Given the description of an element on the screen output the (x, y) to click on. 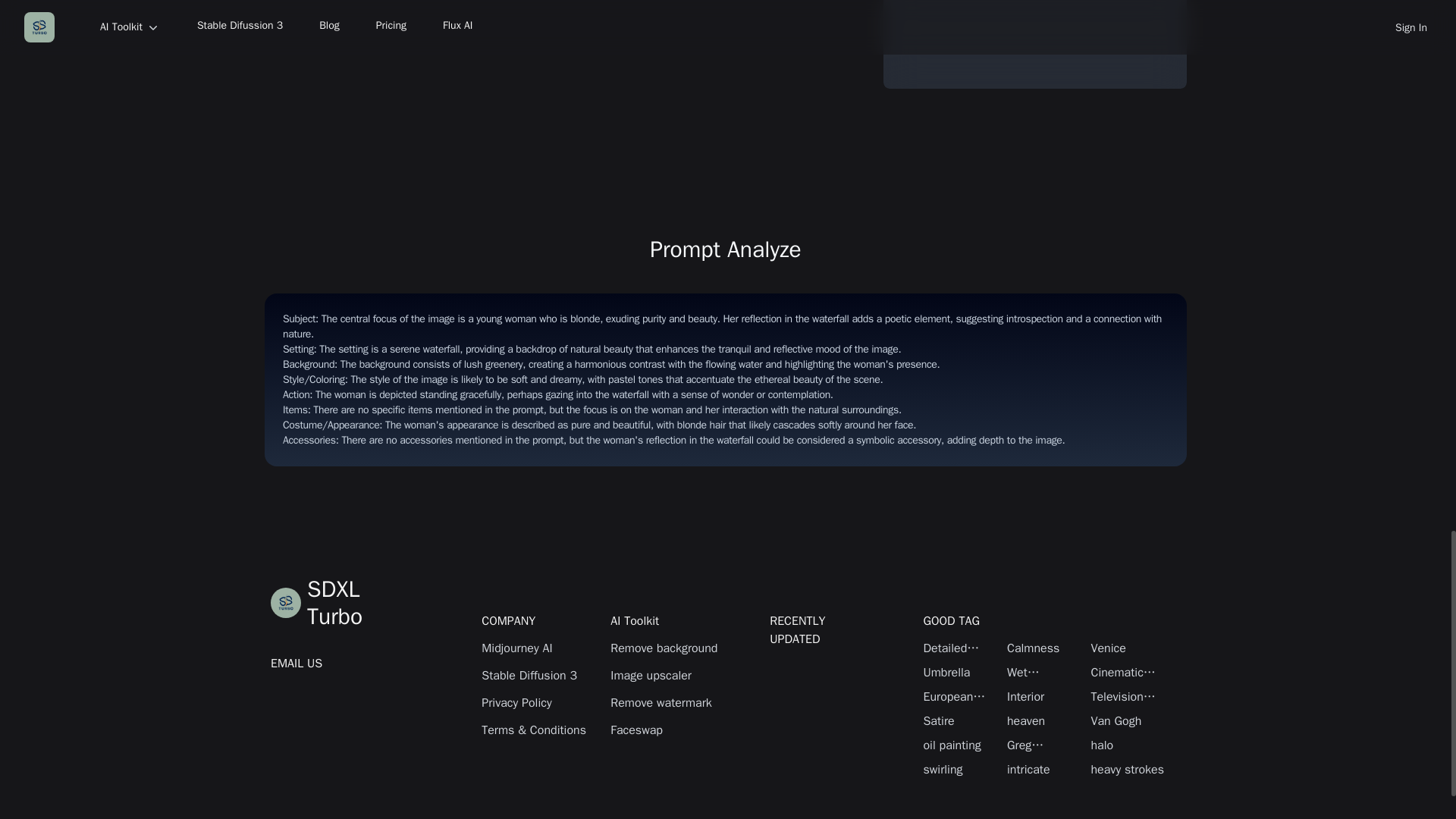
Calmness (1045, 648)
Interior (1045, 696)
Cinematic Style (1128, 672)
Remove background (666, 648)
European Culture (960, 696)
European Culture (960, 696)
Cinematic Style (1128, 672)
Interior (1045, 696)
Privacy Policy (538, 702)
Television Show (1128, 696)
